Given the description of an element on the screen output the (x, y) to click on. 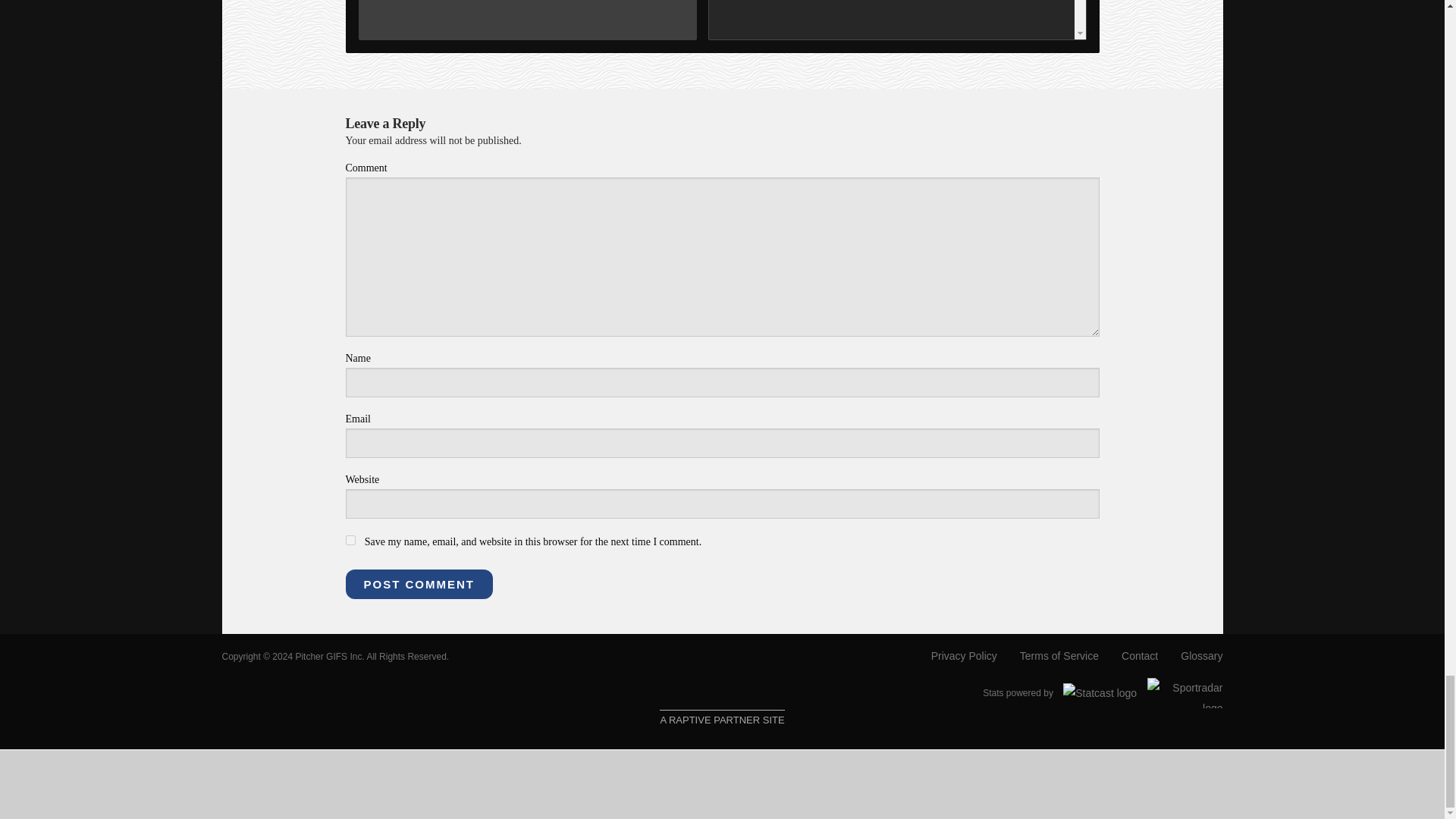
Post Comment (419, 583)
yes (350, 540)
